Given the description of an element on the screen output the (x, y) to click on. 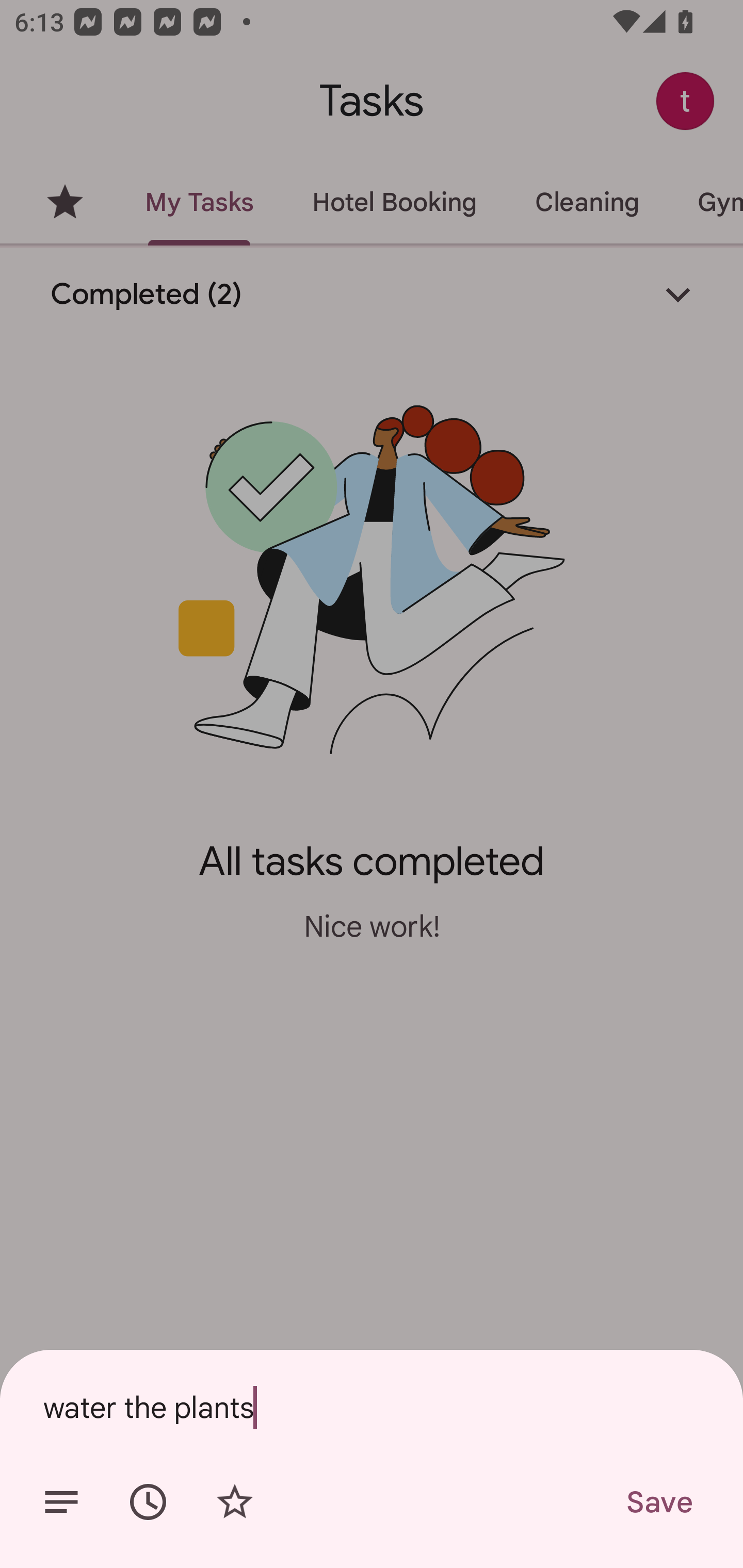
water the plants (371, 1407)
Save (659, 1501)
Add details (60, 1501)
Set date/time (147, 1501)
Add star (234, 1501)
